Given the description of an element on the screen output the (x, y) to click on. 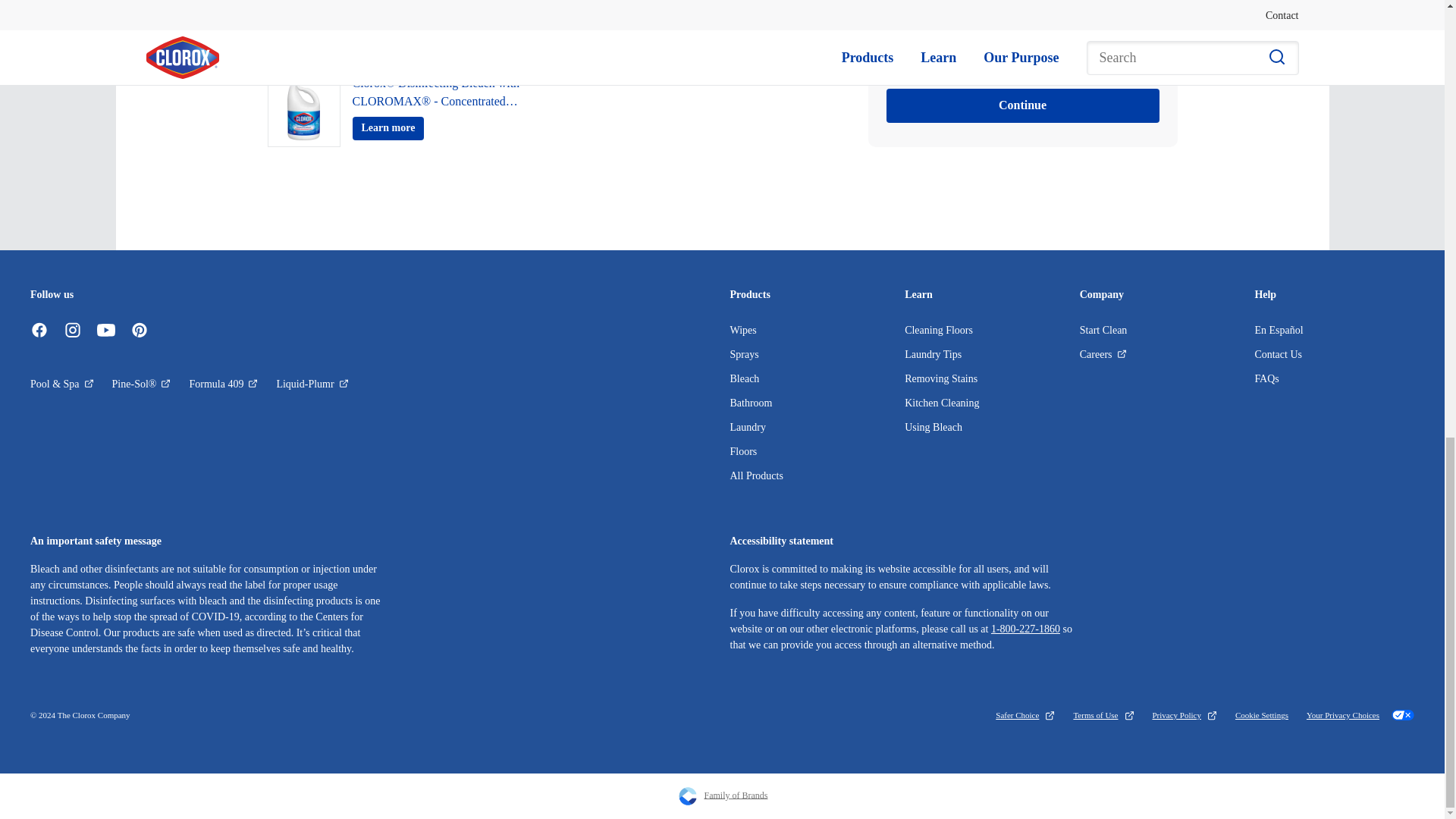
Liquid-Plumr (311, 383)
Cleaning Floors (938, 329)
Formula 409 (223, 383)
Removing Stains (940, 378)
Bathroom (750, 402)
Laundry (747, 427)
Sprays (743, 354)
Laundry Tips (932, 354)
Bleach (743, 378)
Floors (743, 451)
Wipes (742, 329)
All Products (756, 475)
